Given the description of an element on the screen output the (x, y) to click on. 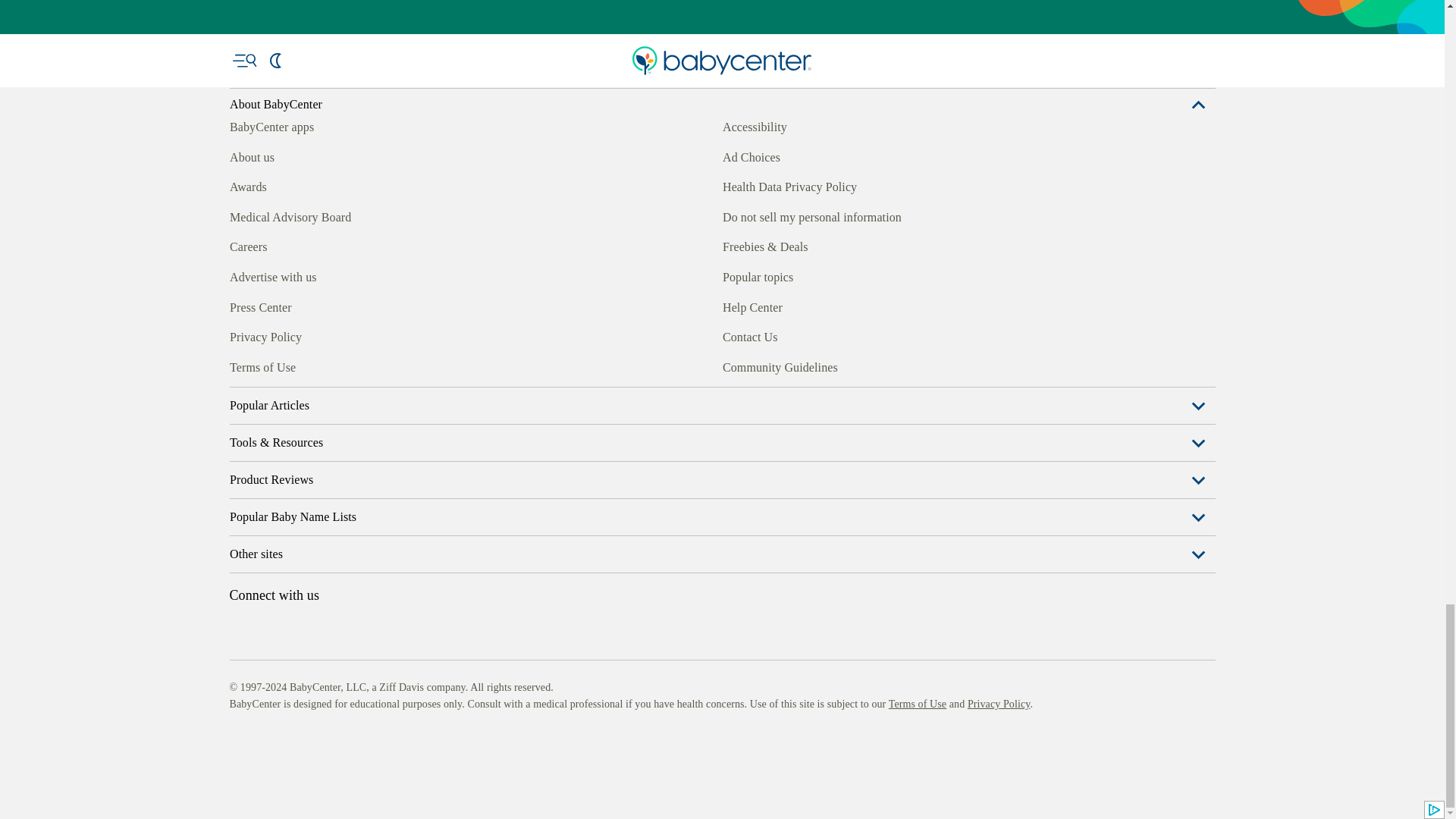
BabyCenter Instagram feed (274, 364)
BabyCenter YouTube channel (344, 364)
BabyCenter Twitter feed (379, 364)
BabyCenter Pinterest board (309, 364)
BabyCenter Facebook page (239, 364)
